Given the description of an element on the screen output the (x, y) to click on. 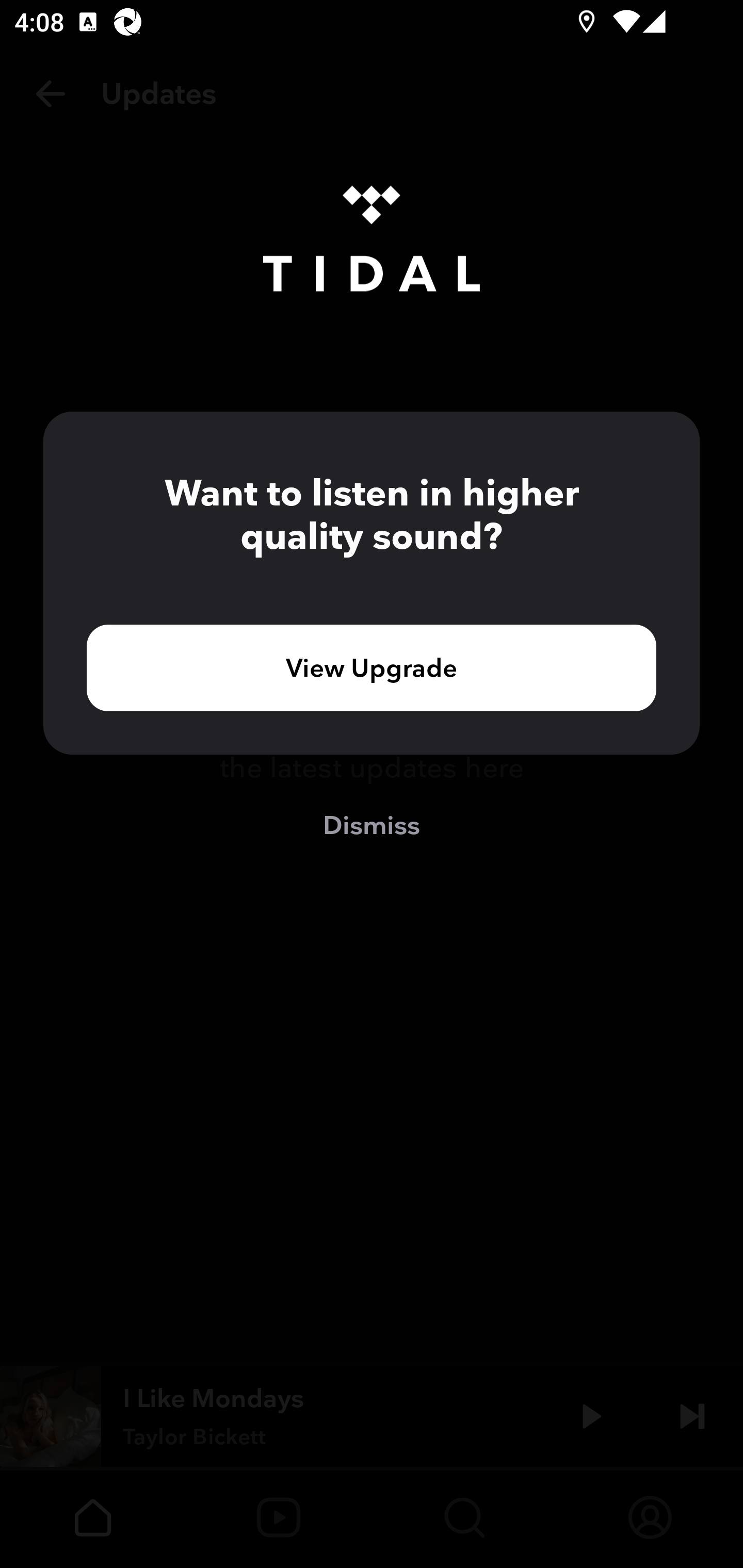
View Upgrade (371, 667)
Dismiss (371, 824)
